Given the description of an element on the screen output the (x, y) to click on. 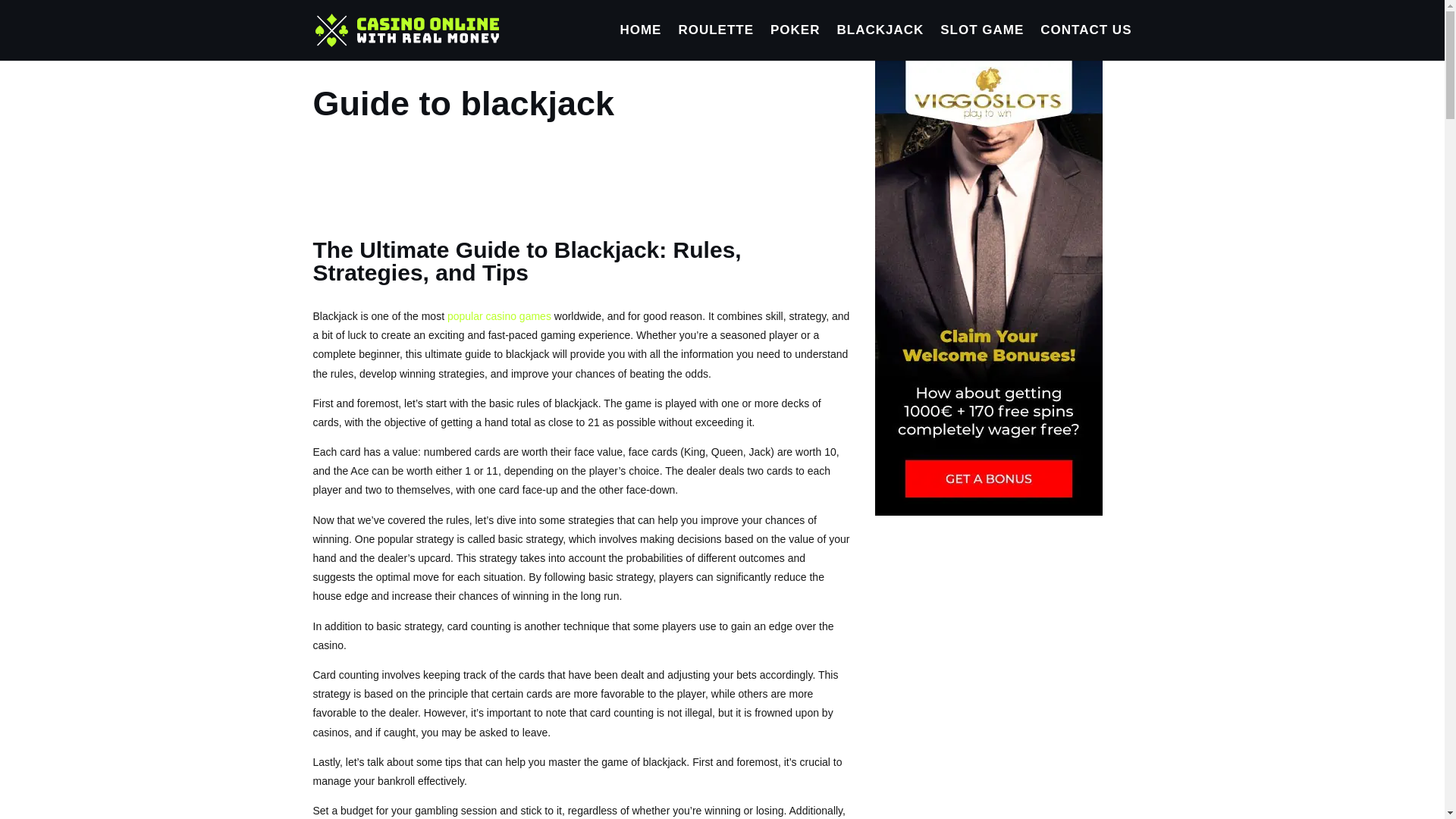
HOME (640, 42)
popular casino games (498, 316)
ROULETTE (716, 42)
SLOT GAME (981, 42)
POKER (794, 42)
BLACKJACK (879, 42)
CONTACT US (1086, 42)
